Given the description of an element on the screen output the (x, y) to click on. 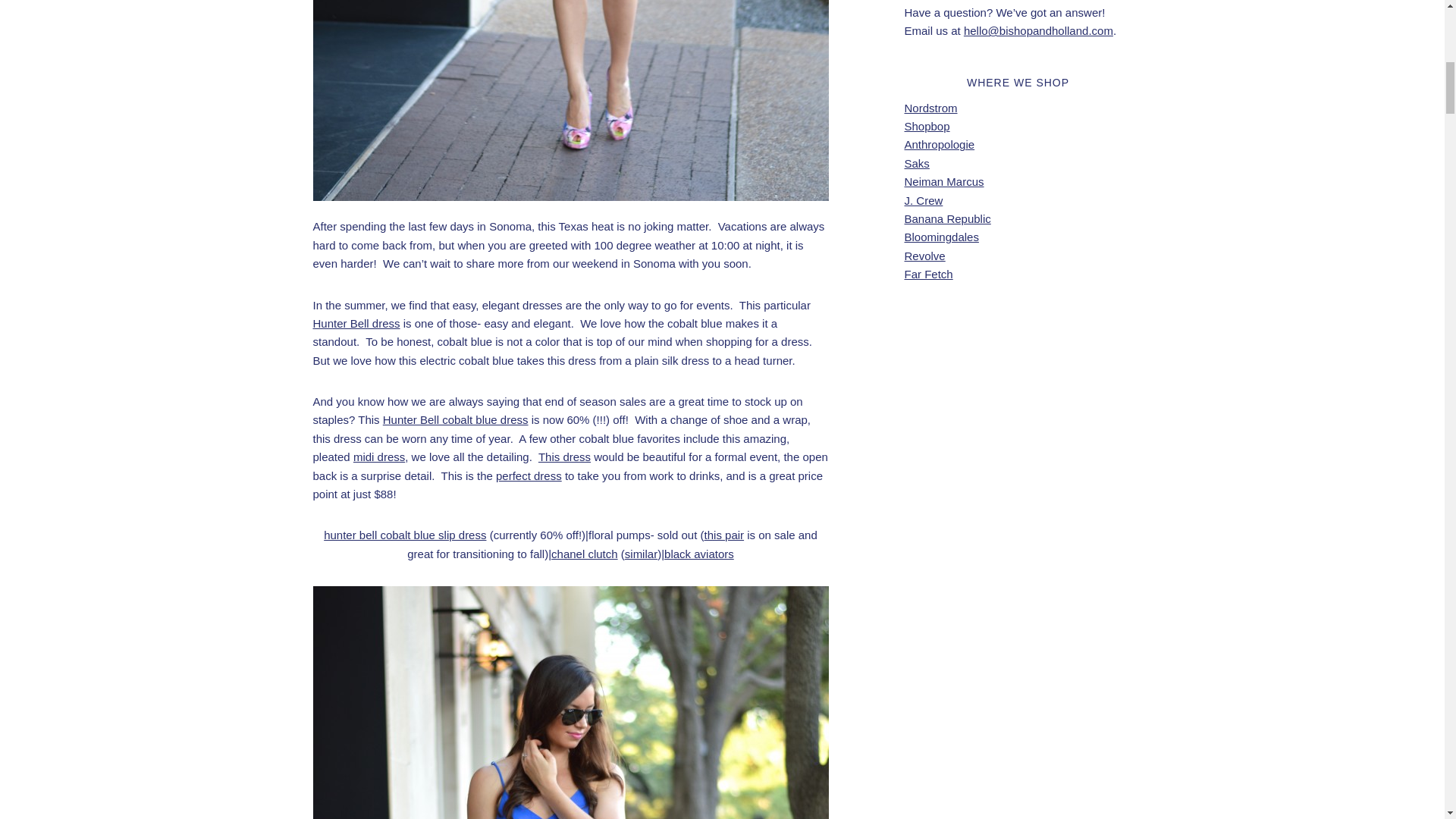
midi dress (378, 456)
similar (641, 553)
Hunter Bell cobalt blue dress (455, 419)
chanel clutch (584, 553)
perfect dress (529, 475)
this pair (724, 534)
Hunter Bell dress (355, 323)
This dress (564, 456)
black aviators (698, 553)
hunter bell cobalt blue slip dress (404, 534)
